Given the description of an element on the screen output the (x, y) to click on. 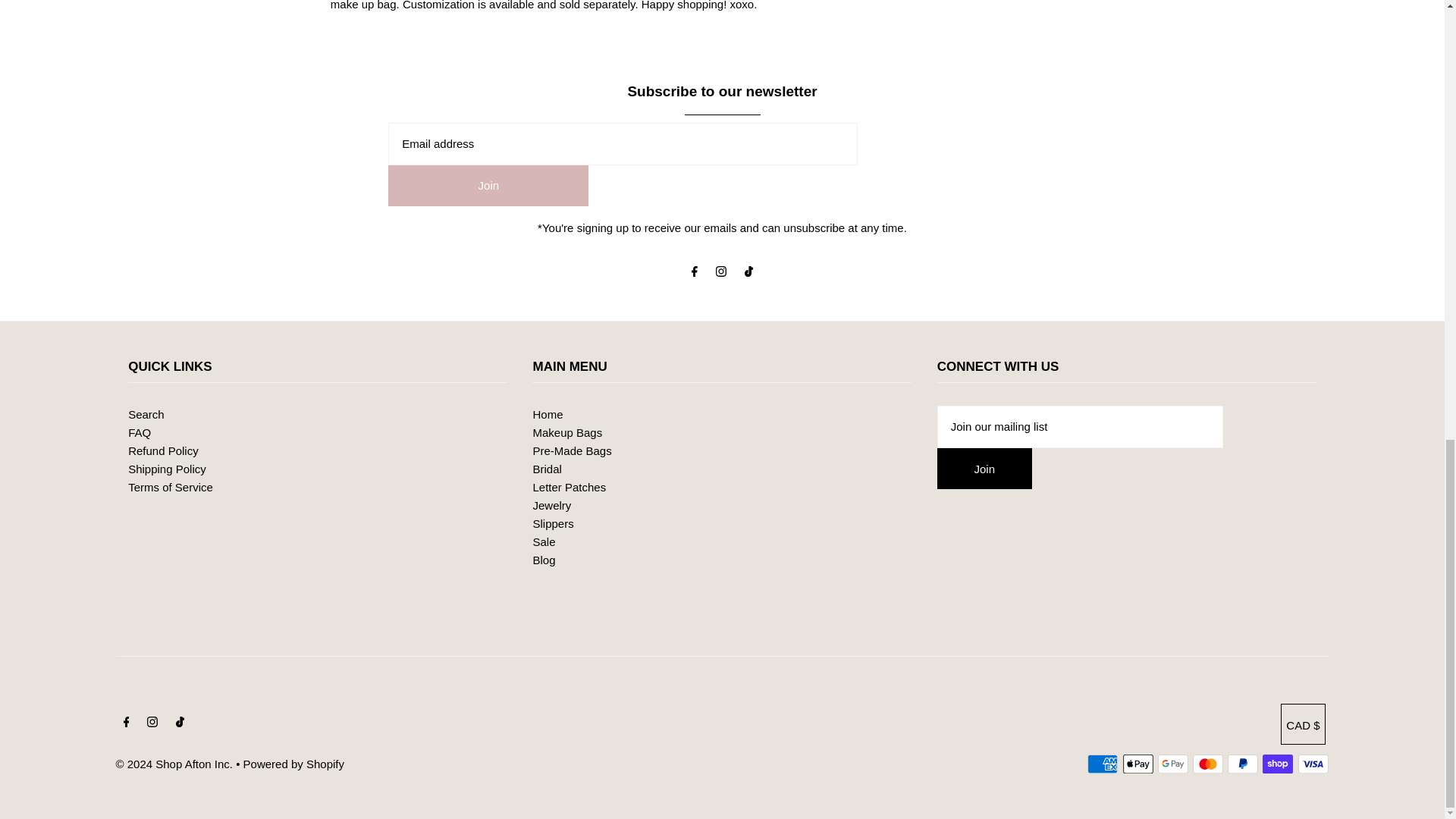
Visa (1312, 763)
Apple Pay (1137, 763)
Join (488, 185)
Shop Pay (1277, 763)
Mastercard (1207, 763)
Refund Policy (163, 450)
American Express (1102, 763)
Search (146, 413)
Google Pay (1172, 763)
Shipping Policy (167, 468)
FAQ (139, 431)
Join (984, 467)
PayPal (1242, 763)
